Given the description of an element on the screen output the (x, y) to click on. 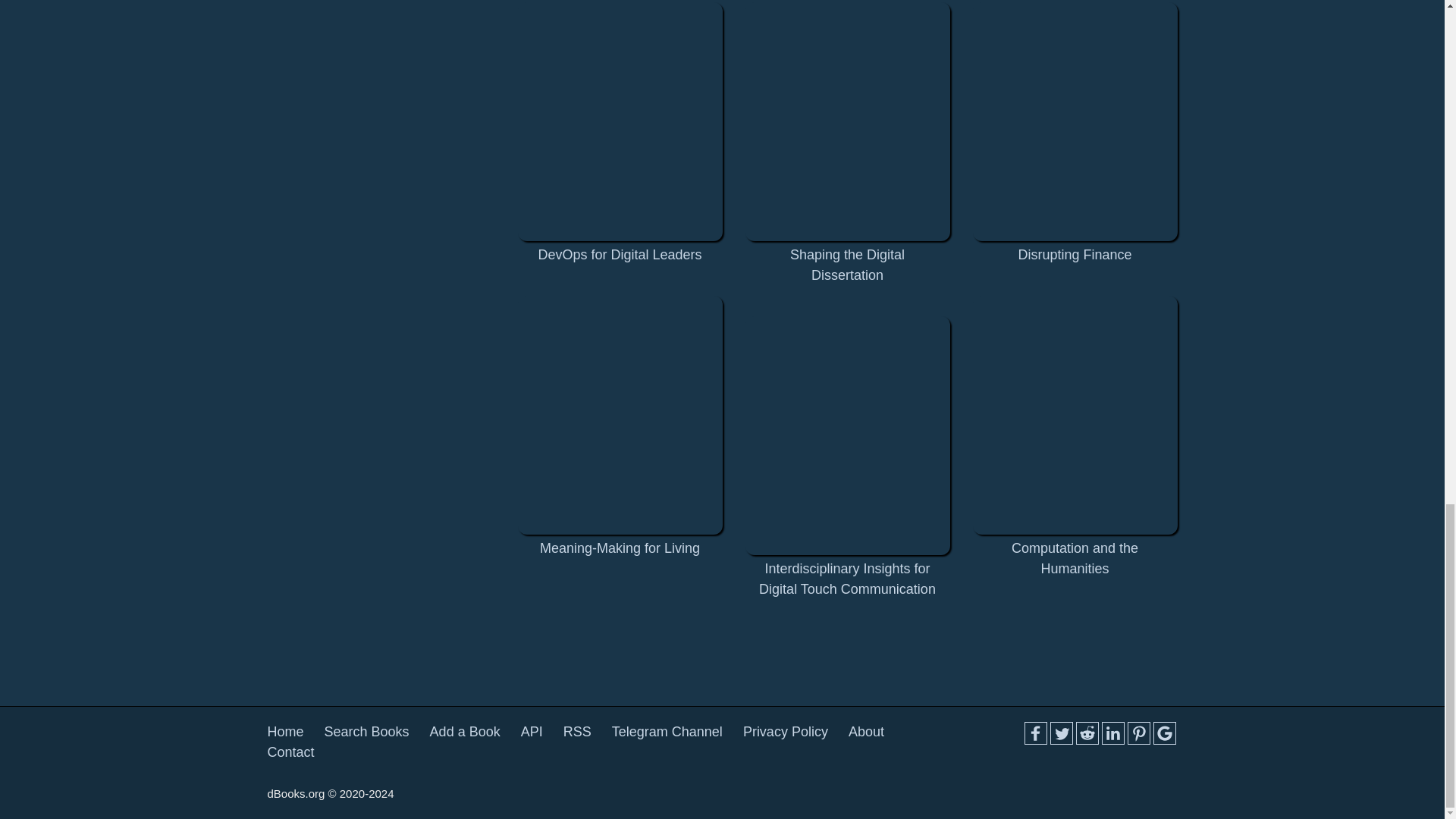
Share to Twitter (1060, 732)
Share to Pinterest (1138, 732)
Share to Reddit (1086, 732)
Add to Google Bookmarks (1163, 732)
Share to LinkedIn (1112, 732)
Share to Facebook (1034, 732)
